Given the description of an element on the screen output the (x, y) to click on. 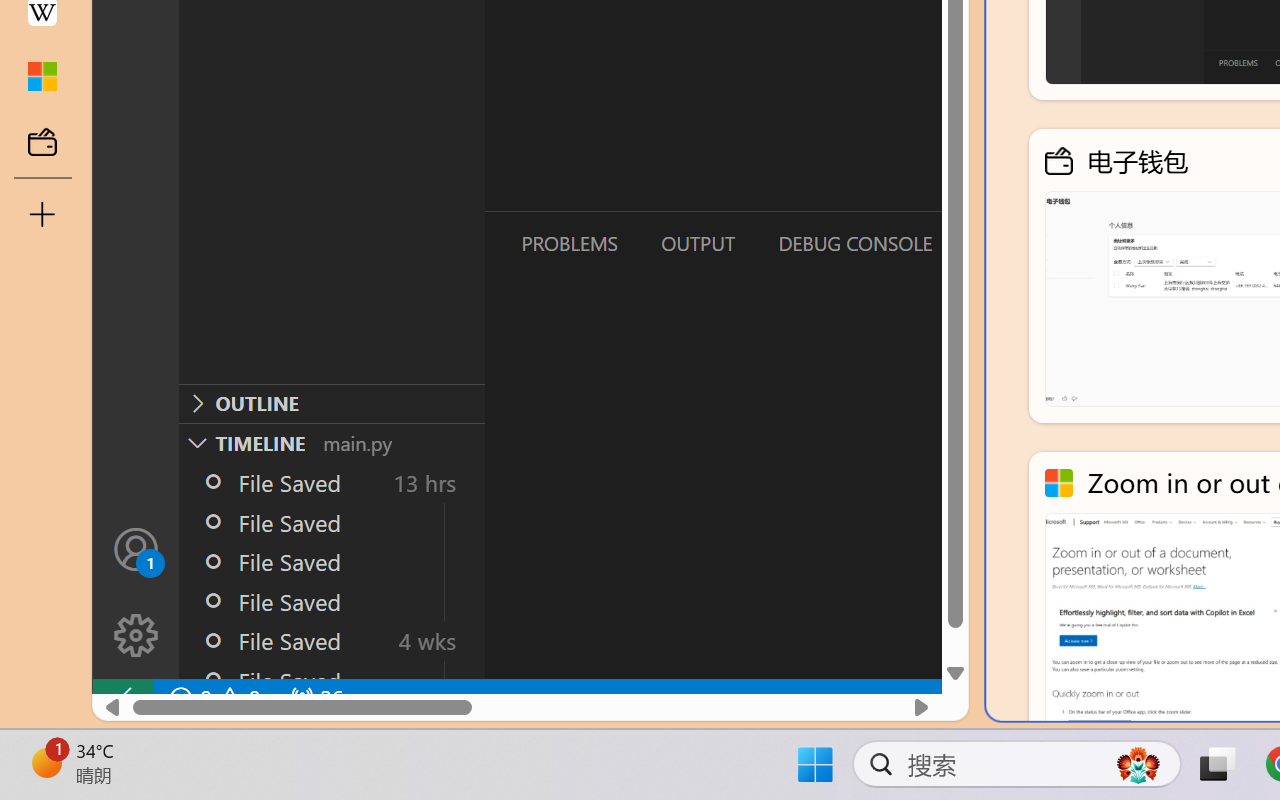
No Problems (212, 698)
Problems (Ctrl+Shift+M) (567, 243)
